Given the description of an element on the screen output the (x, y) to click on. 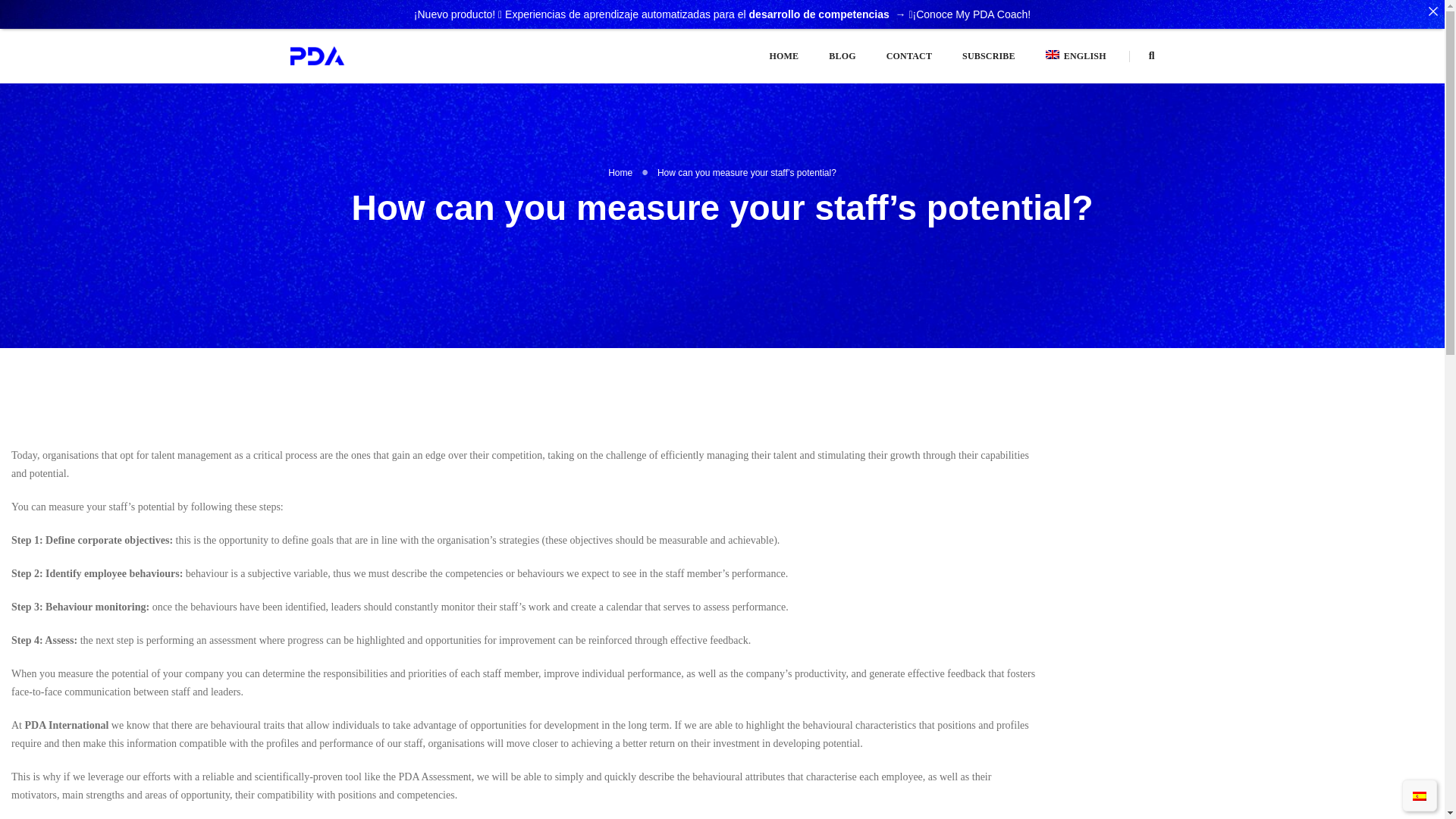
SUBSCRIBE (988, 55)
Browse to: Home (619, 172)
ENGLISH (1075, 55)
Home (619, 172)
PDA - Blog (317, 55)
English (1075, 55)
